Given the description of an element on the screen output the (x, y) to click on. 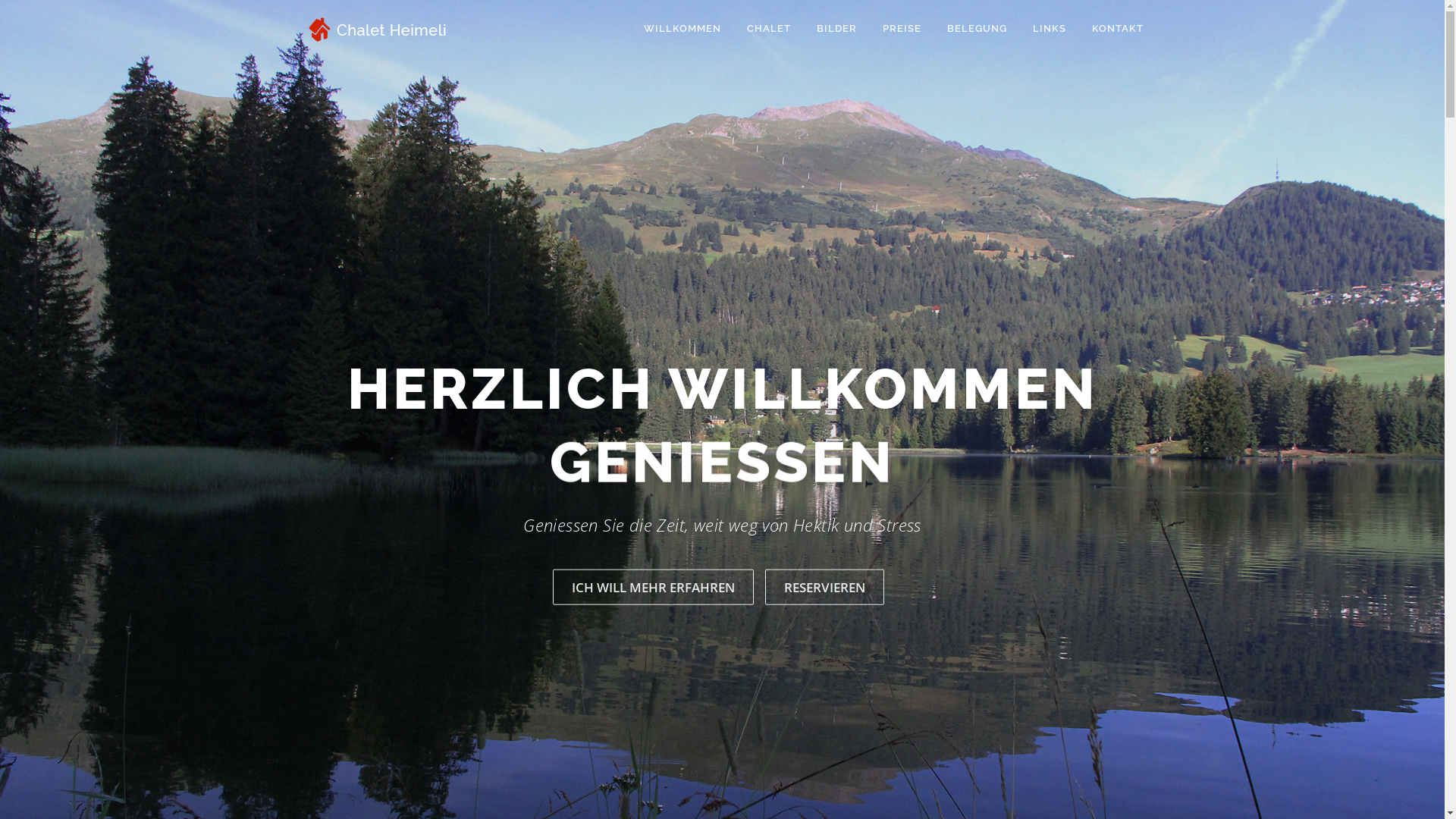
ICH WILL MEHR ERFAHREN Element type: text (652, 587)
KONTAKT Element type: text (1110, 28)
BILDER Element type: text (836, 28)
BELEGUNG Element type: text (976, 28)
CHALET Element type: text (768, 28)
PREISE Element type: text (901, 28)
WILLKOMMEN Element type: text (682, 28)
LINKS Element type: text (1048, 28)
RESERVIEREN Element type: text (824, 587)
